Given the description of an element on the screen output the (x, y) to click on. 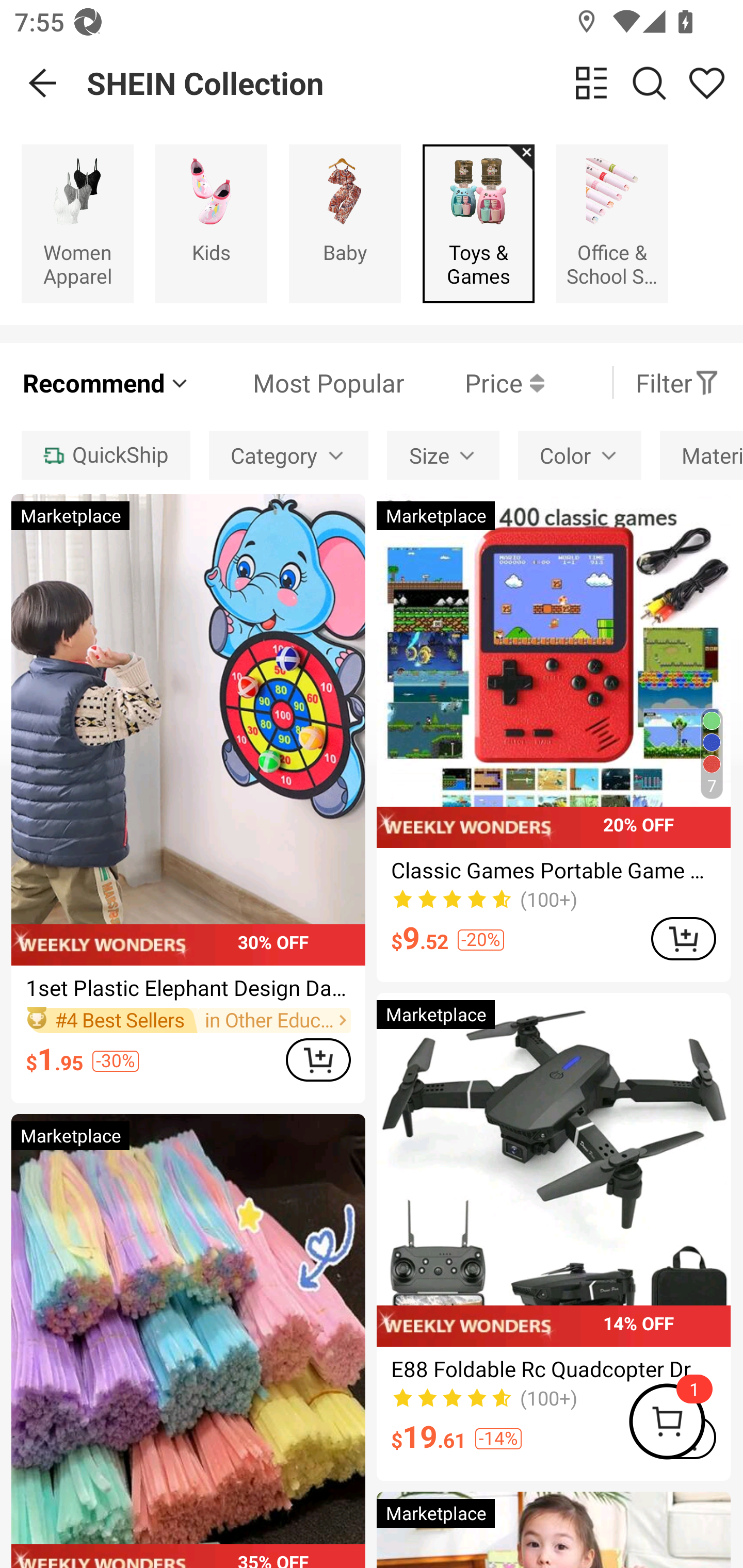
SHEIN Collection change view Search Share (414, 82)
change view (591, 82)
Search (648, 82)
Share (706, 82)
Women Apparel (77, 223)
Kids (211, 223)
Baby (345, 223)
Toys & Games (478, 223)
Office & School Supplies (611, 223)
Recommend (106, 382)
Most Popular (297, 382)
Price (474, 382)
Filter (677, 382)
QuickShip (105, 455)
Category (288, 455)
Size (443, 455)
Color (579, 455)
Material (701, 455)
ADD TO CART (683, 938)
#4 Best Sellers in Other Educational Toys (188, 1019)
ADD TO CART (318, 1059)
